Given the description of an element on the screen output the (x, y) to click on. 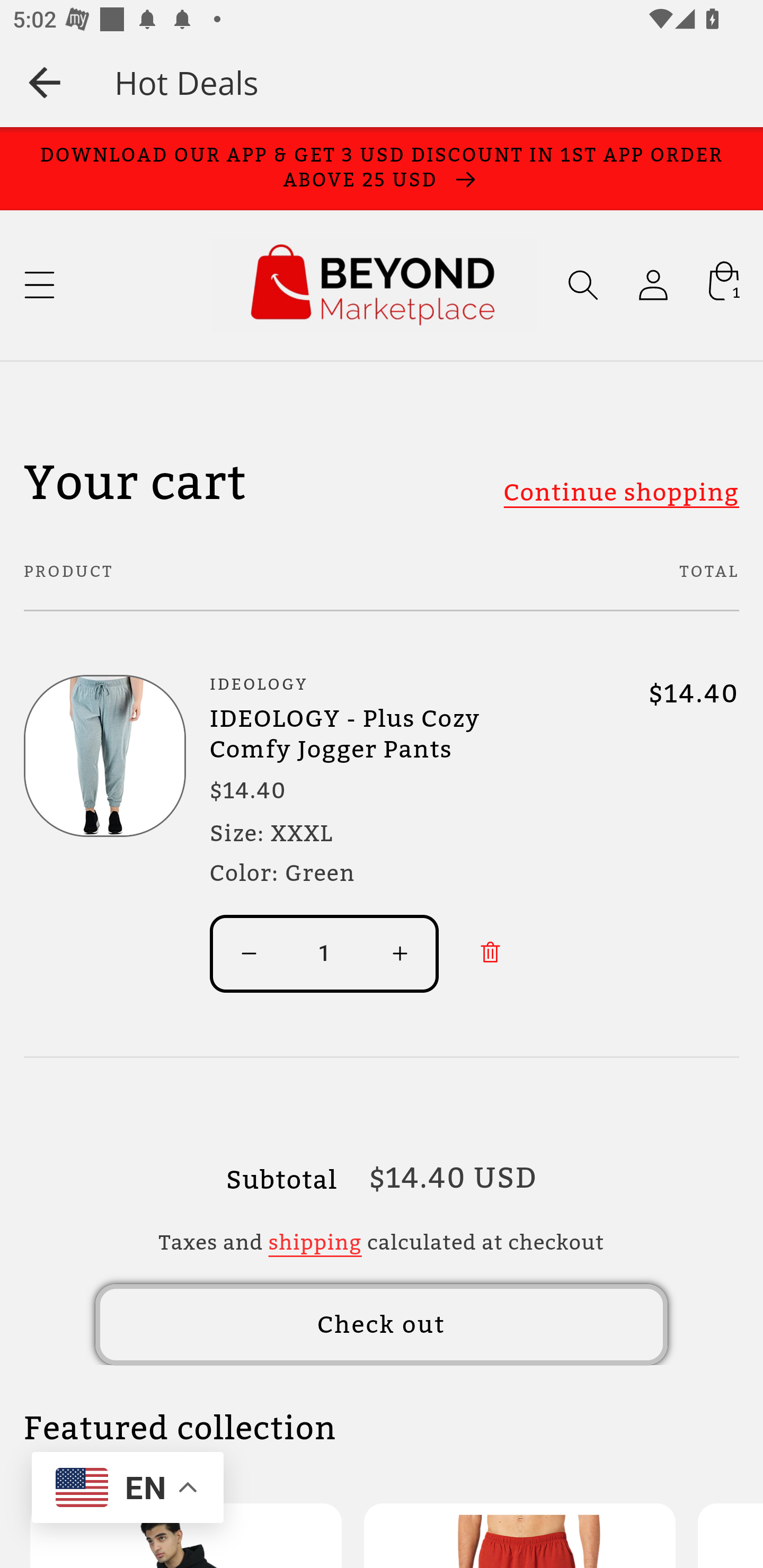
Navigate up (44, 82)
Beyond Marketplace (373, 284)
Menu (39, 285)
Search (583, 285)
Log in (653, 285)
Cart 1 item Cart 1 item (723, 285)
Continue shopping (620, 492)
IDEOLOGY - Plus Cozy Comfy Jogger Pants (381, 734)
shipping (314, 1242)
Check out (381, 1325)
